Given the description of an element on the screen output the (x, y) to click on. 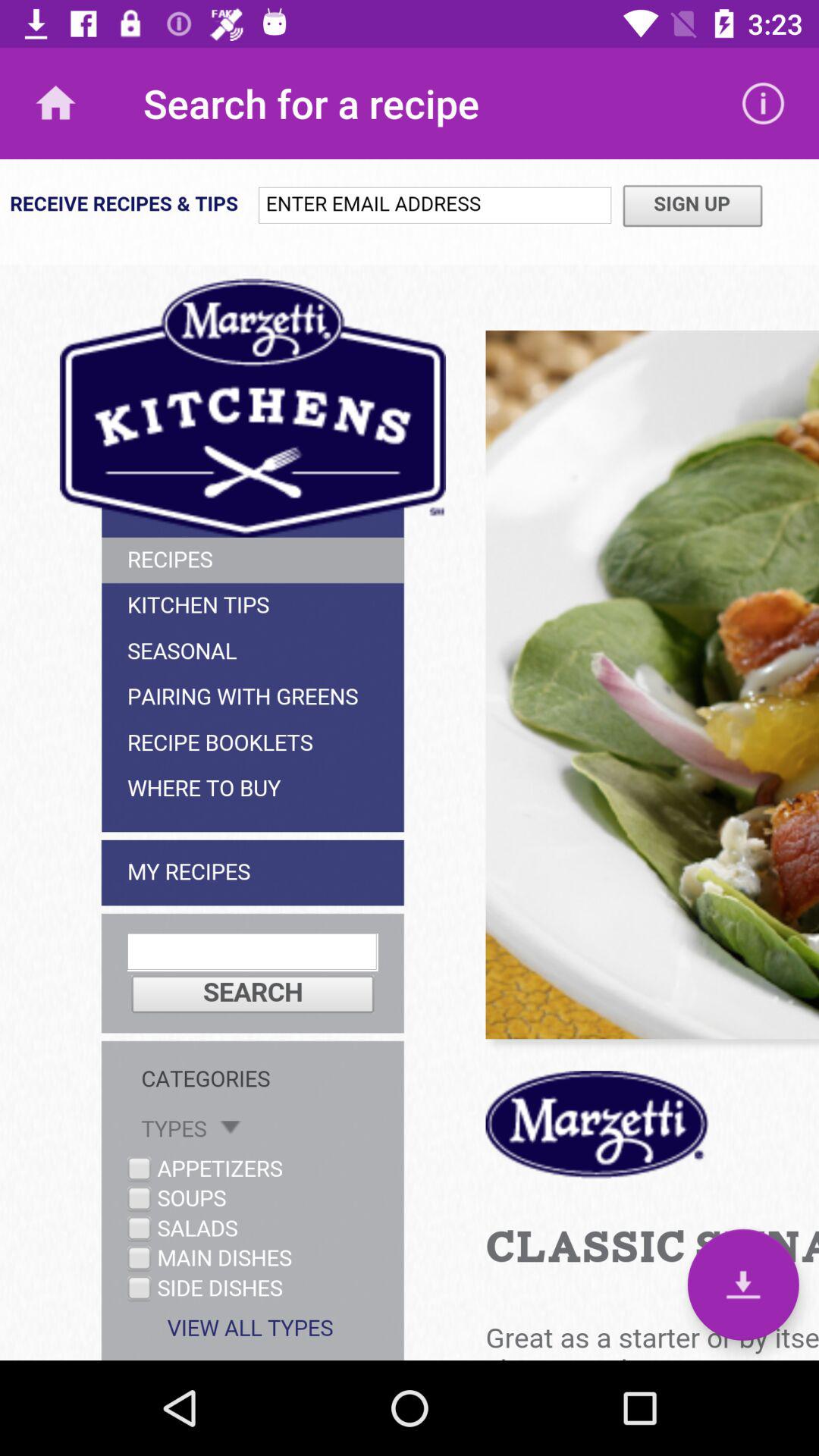
download icon (743, 1284)
